Given the description of an element on the screen output the (x, y) to click on. 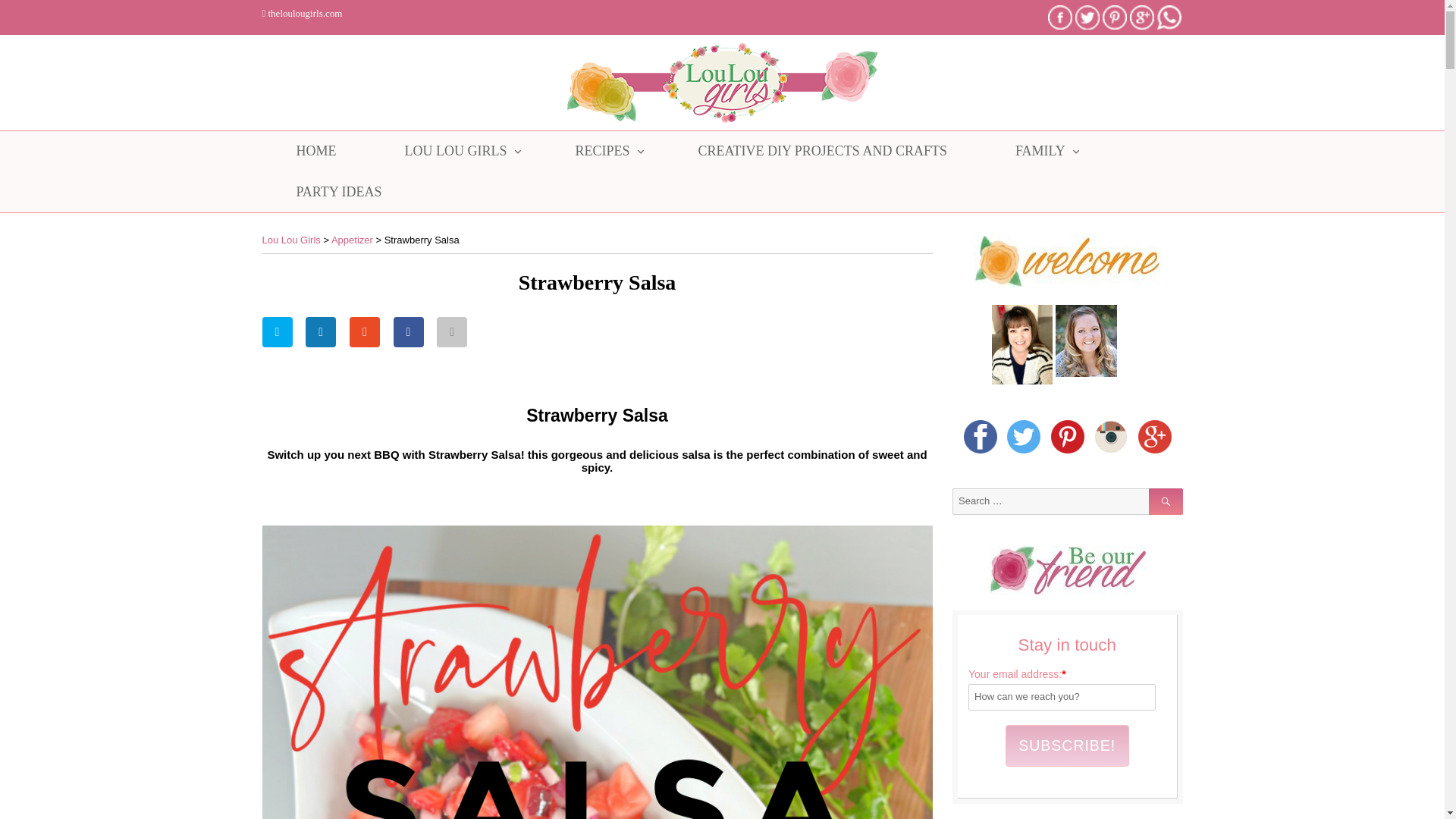
Pinterest (1114, 16)
Subscribe! (1067, 745)
FAMILY (1040, 151)
Watsapp (1168, 16)
HOME (316, 151)
Twitter (1087, 15)
How can we reach you? (1062, 696)
CREATIVE DIY PROJECTS AND CRAFTS (822, 151)
Lou Lou Girls (291, 239)
Appetizer (351, 239)
